Given the description of an element on the screen output the (x, y) to click on. 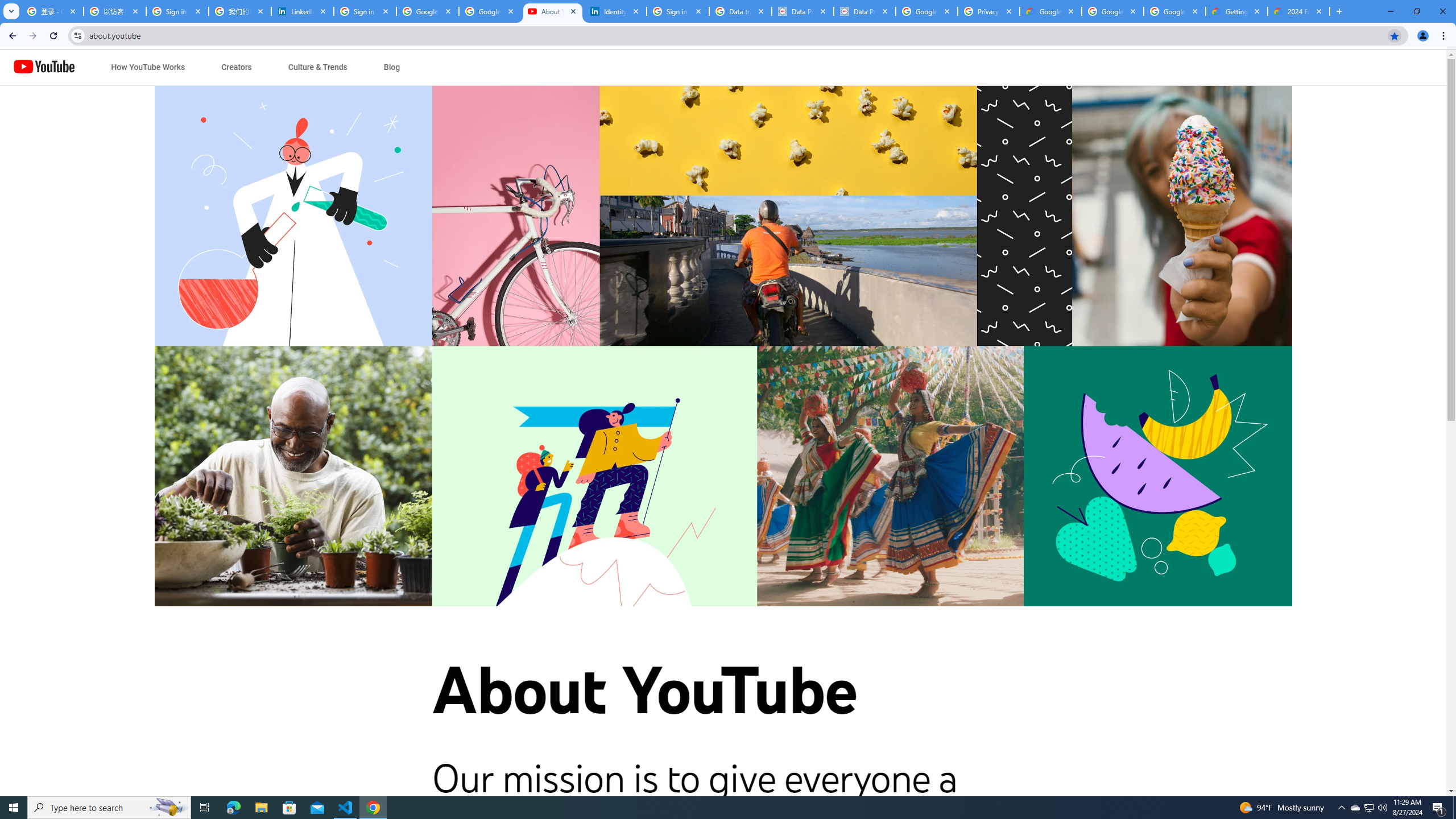
Culture & Trends (317, 67)
Sign in - Google Accounts (177, 11)
Google Workspace - Specific Terms (1174, 11)
Blog (391, 67)
